Given the description of an element on the screen output the (x, y) to click on. 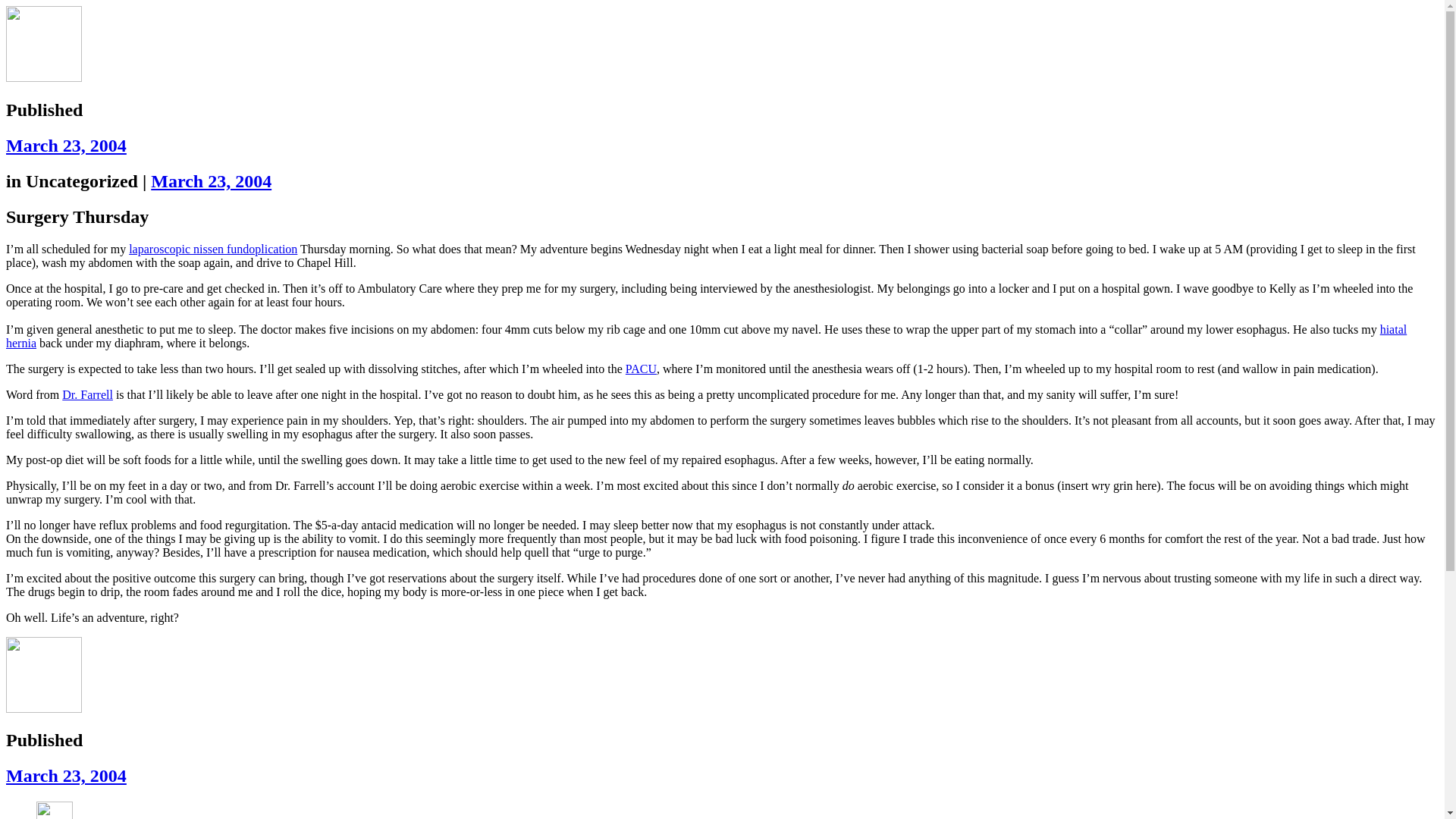
laparoscopic nissen fundoplication (213, 248)
Surgery Thursday (65, 775)
March 23, 2004 (65, 145)
March 23, 2004 (65, 775)
hiatal hernia (705, 335)
Dr. Farrell (87, 394)
PACU (641, 368)
March 23, 2004 (210, 180)
Surgery Thursday (65, 145)
Surgery Thursday (210, 180)
